Given the description of an element on the screen output the (x, y) to click on. 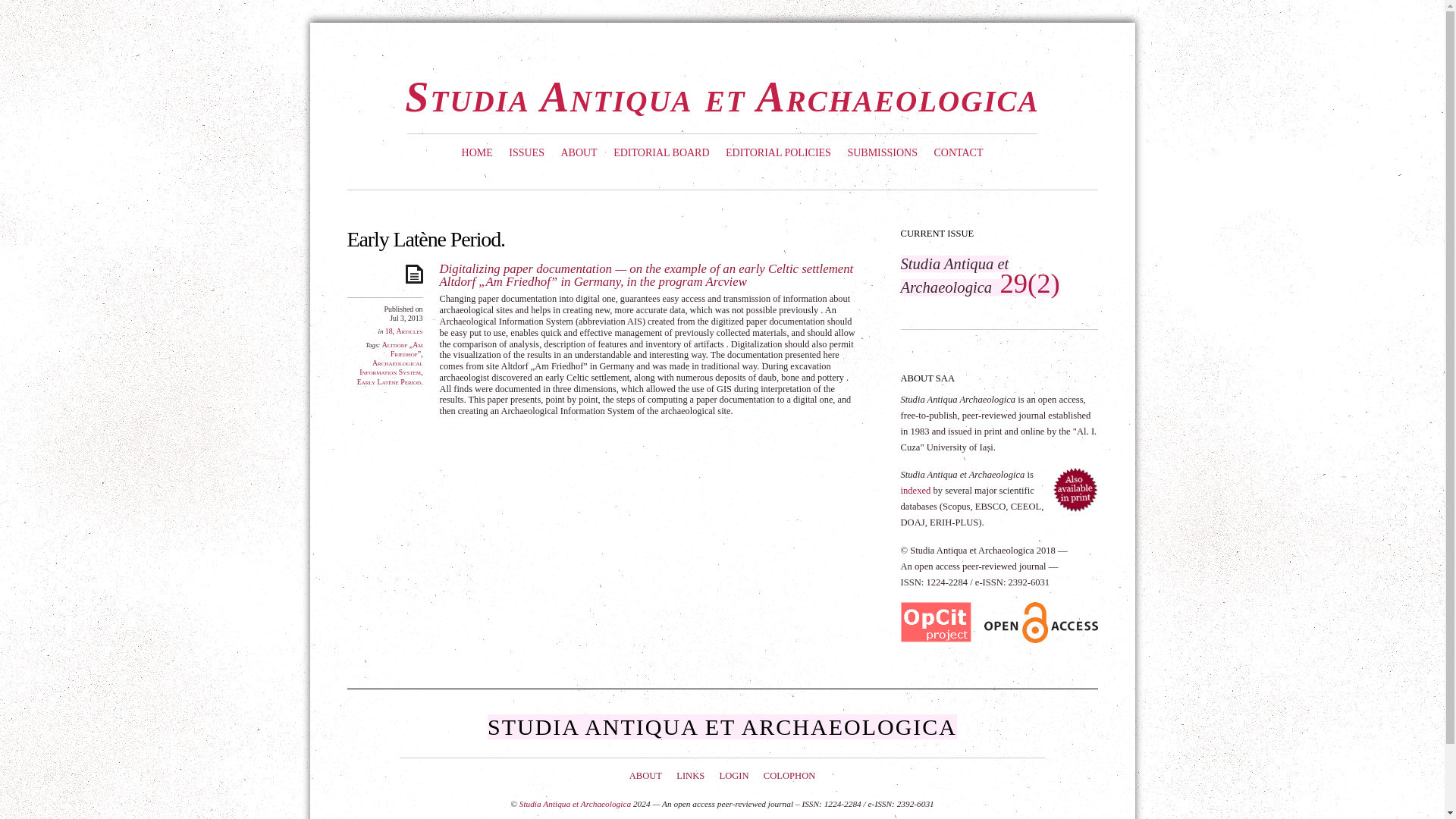
HOME (477, 152)
Studia Antiqua et Archaeologica (721, 96)
ABOUT (577, 152)
ISSUES (526, 152)
